Given the description of an element on the screen output the (x, y) to click on. 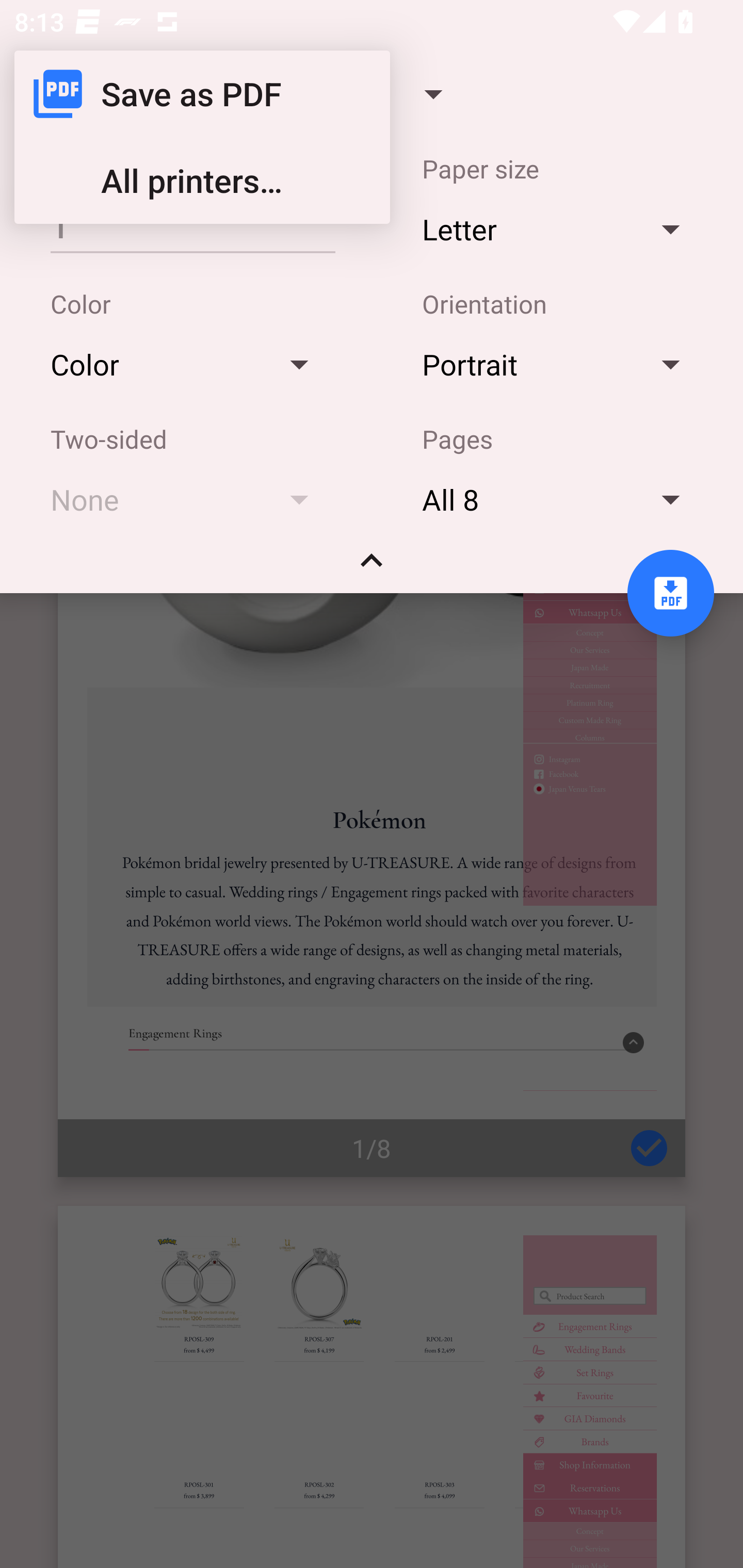
Save as PDF (202, 93)
All printers… (202, 180)
